Given the description of an element on the screen output the (x, y) to click on. 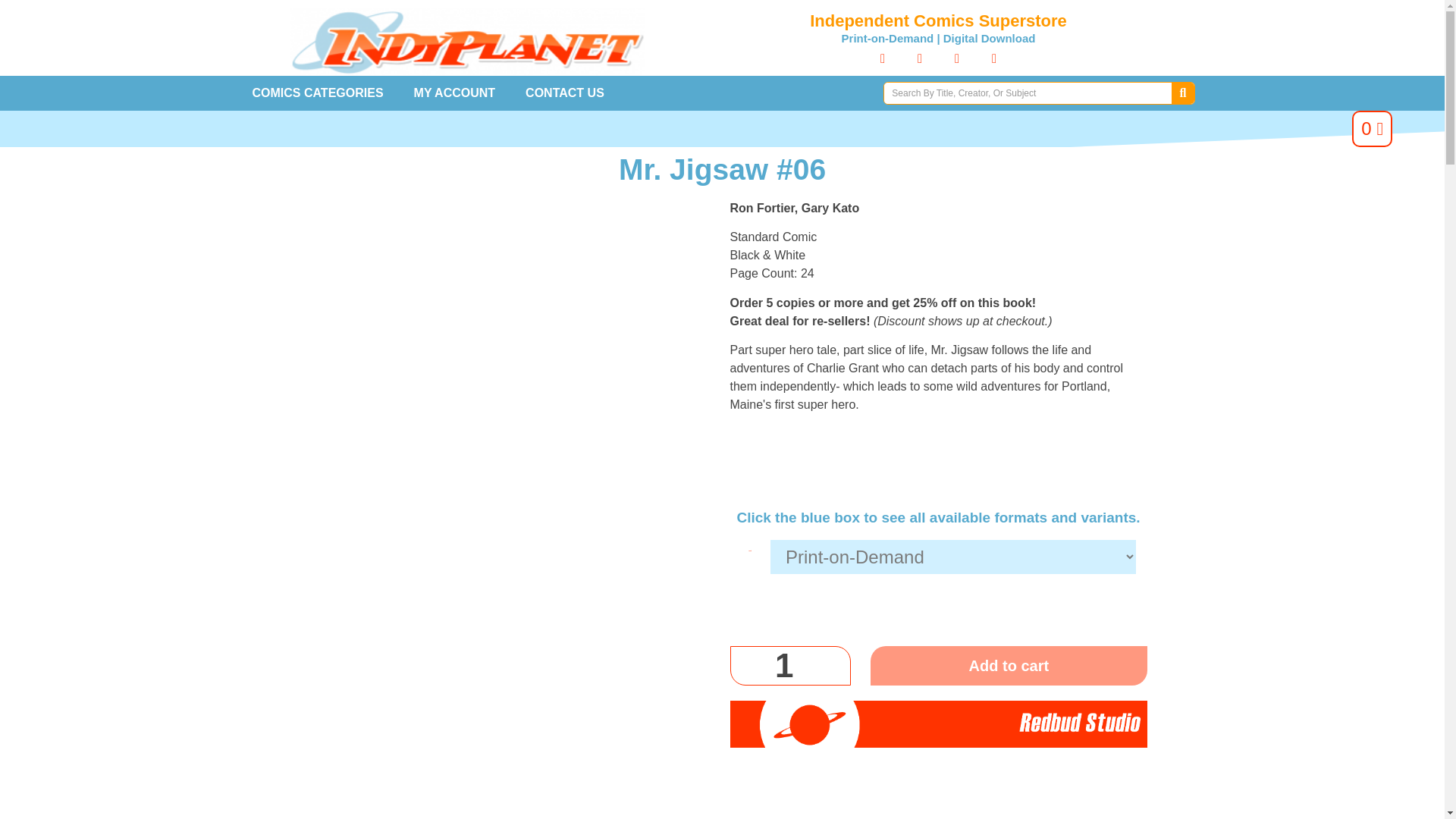
COMICS CATEGORIES (316, 92)
CONTACT US (565, 92)
1 (789, 665)
MY ACCOUNT (454, 92)
0 (1371, 128)
Add to cart (1008, 665)
